Given the description of an element on the screen output the (x, y) to click on. 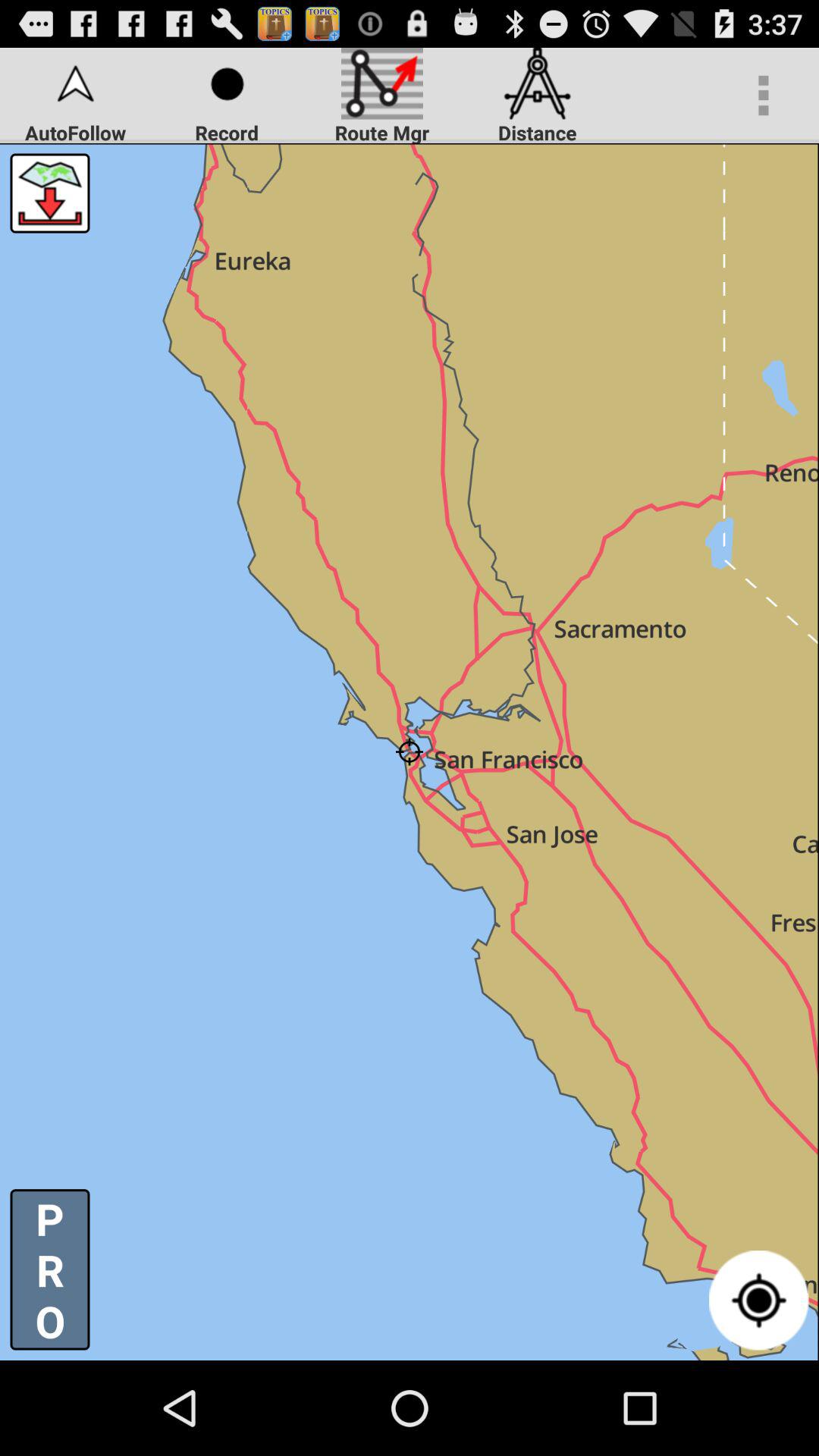
press p
r
o at the bottom left corner (49, 1269)
